Given the description of an element on the screen output the (x, y) to click on. 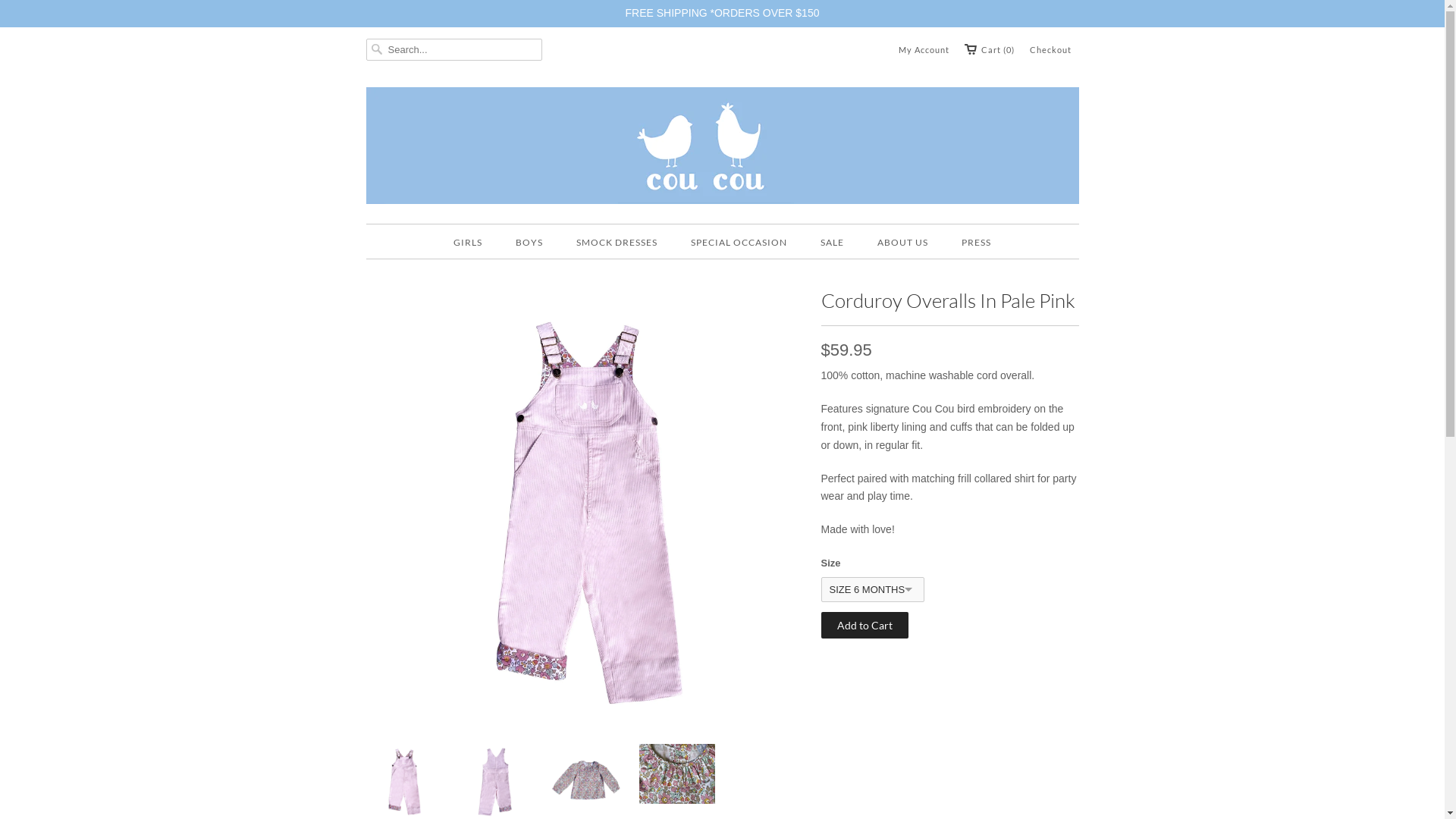
Checkout Element type: text (1050, 49)
BOYS Element type: text (528, 242)
Corduroy Overalls In Pale Pink - Cou Cou Baby Element type: hover (585, 728)
GIRLS Element type: text (467, 242)
Cart (0) Element type: text (989, 49)
ABOUT US Element type: text (902, 242)
SALE Element type: text (832, 242)
Corduroy Overalls In Pale Pink - Cou Cou Baby Element type: hover (676, 776)
My Account Element type: text (922, 49)
Cou Cou Baby Element type: hover (721, 147)
SMOCK DRESSES Element type: text (616, 242)
PRESS Element type: text (976, 242)
Add to Cart Element type: text (863, 624)
SPECIAL OCCASION Element type: text (738, 242)
